Given the description of an element on the screen output the (x, y) to click on. 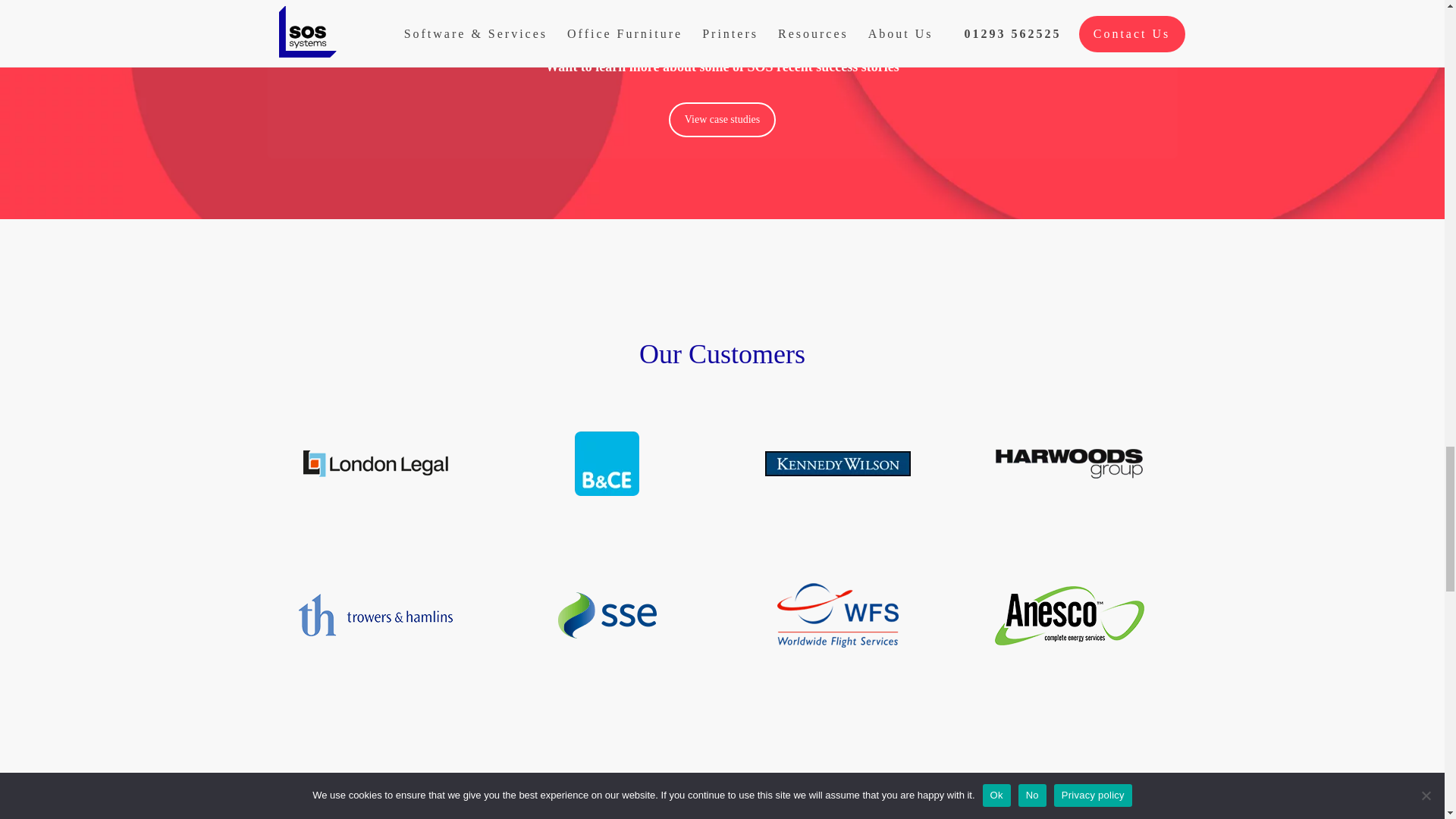
Anesco Logo (1069, 614)
Harwoods Group Logo (1069, 463)
WFS Logo (837, 614)
SSE  Logo (606, 614)
Kennedy Wilson Logo (837, 463)
London Legal Logo (375, 463)
